Given the description of an element on the screen output the (x, y) to click on. 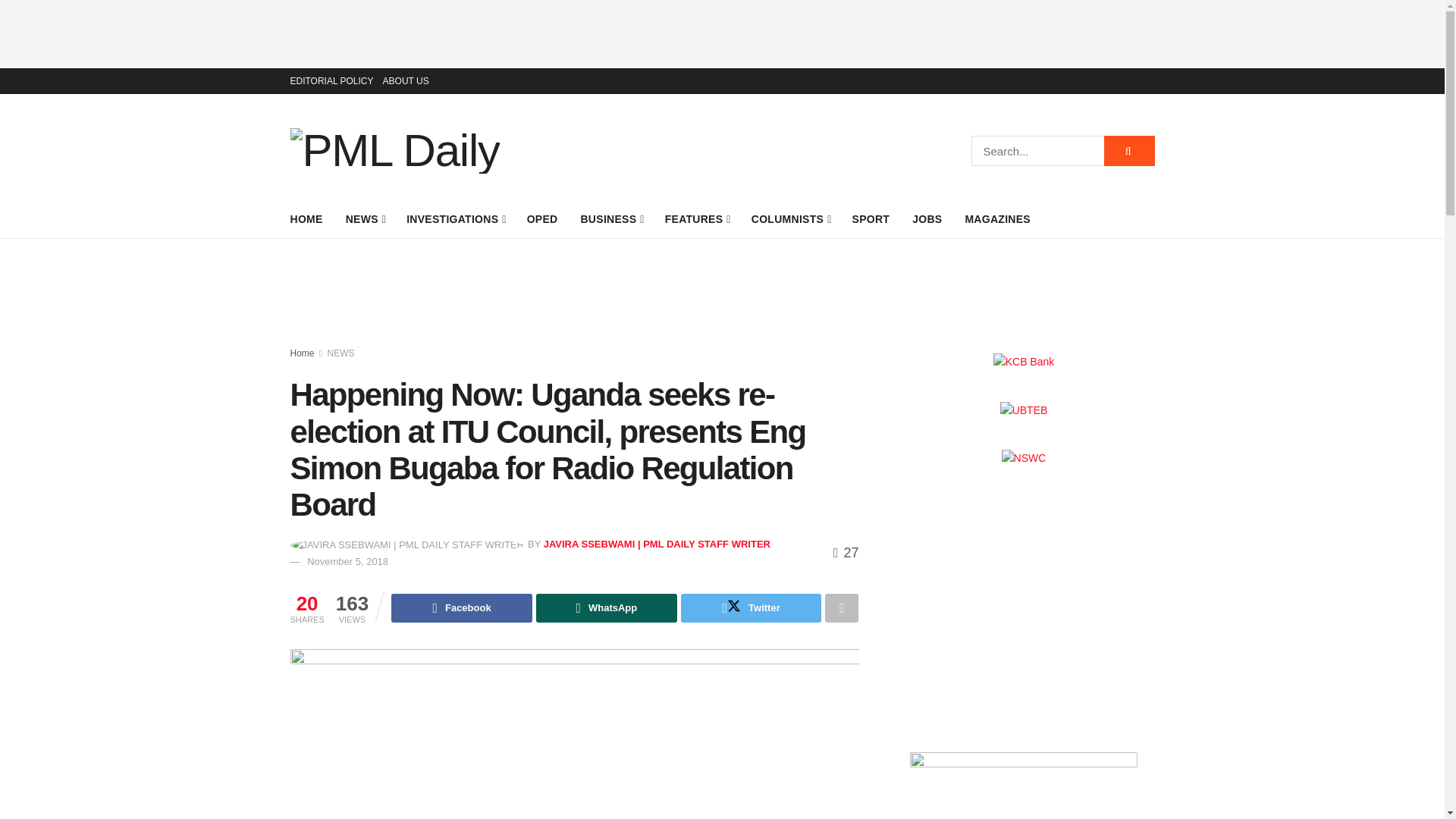
FEATURES (697, 219)
NEWS (365, 219)
ABOUT US (405, 80)
MAGAZINES (996, 219)
COLUMNISTS (790, 219)
SPORT (870, 219)
EDITORIAL POLICY (330, 80)
JOBS (927, 219)
INVESTIGATIONS (454, 219)
BUSINESS (610, 219)
OPED (542, 219)
HOME (305, 219)
